Given the description of an element on the screen output the (x, y) to click on. 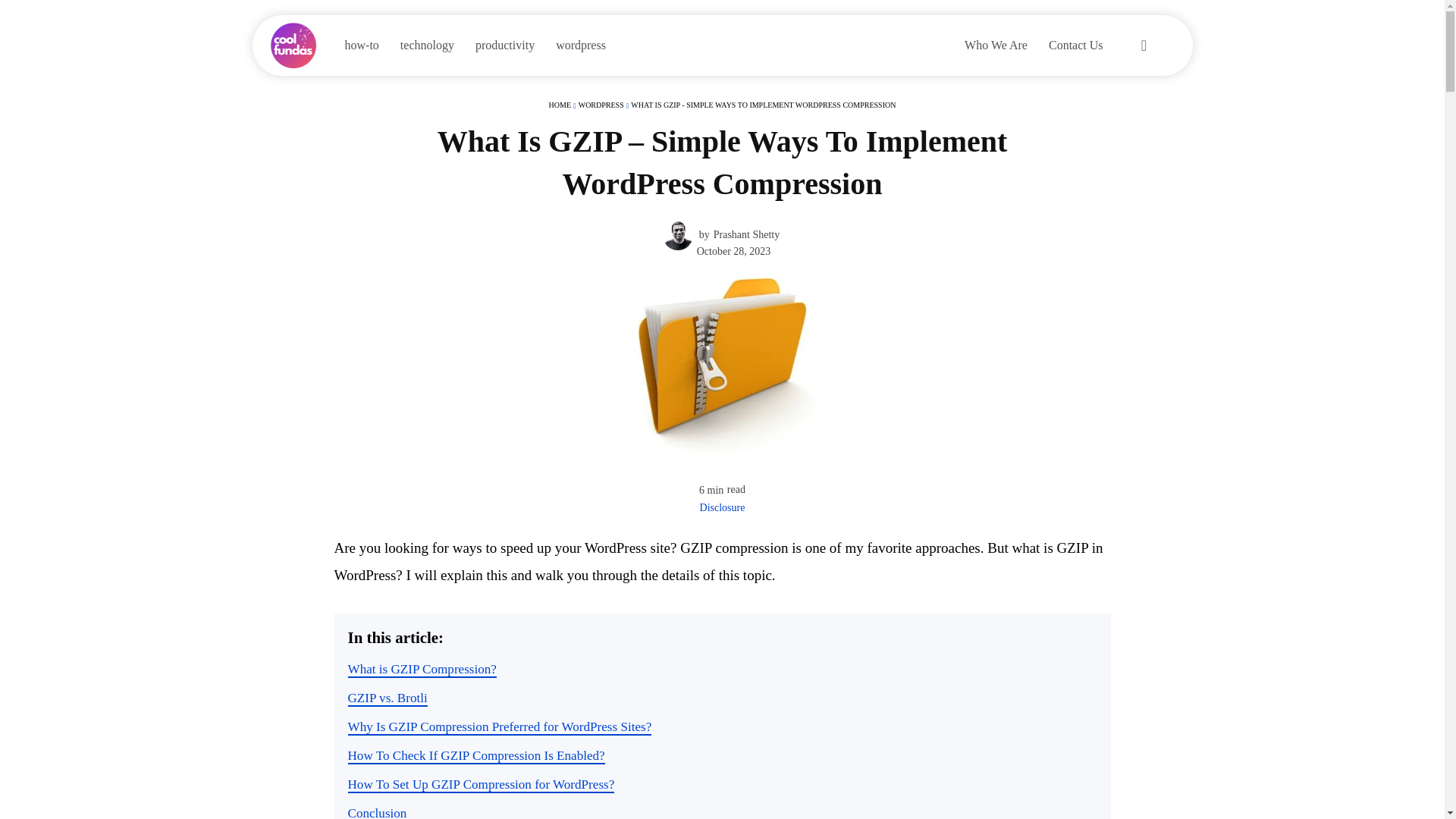
Who We Are (995, 45)
Prashant Shetty (746, 234)
View all posts in WordPress (601, 104)
Disclosure (722, 507)
productivity (504, 45)
Contact Us (1075, 45)
Prashant Shetty (680, 235)
how-to (360, 45)
Coolfundas: Technology Blog (299, 44)
WORDPRESS (601, 104)
